Given the description of an element on the screen output the (x, y) to click on. 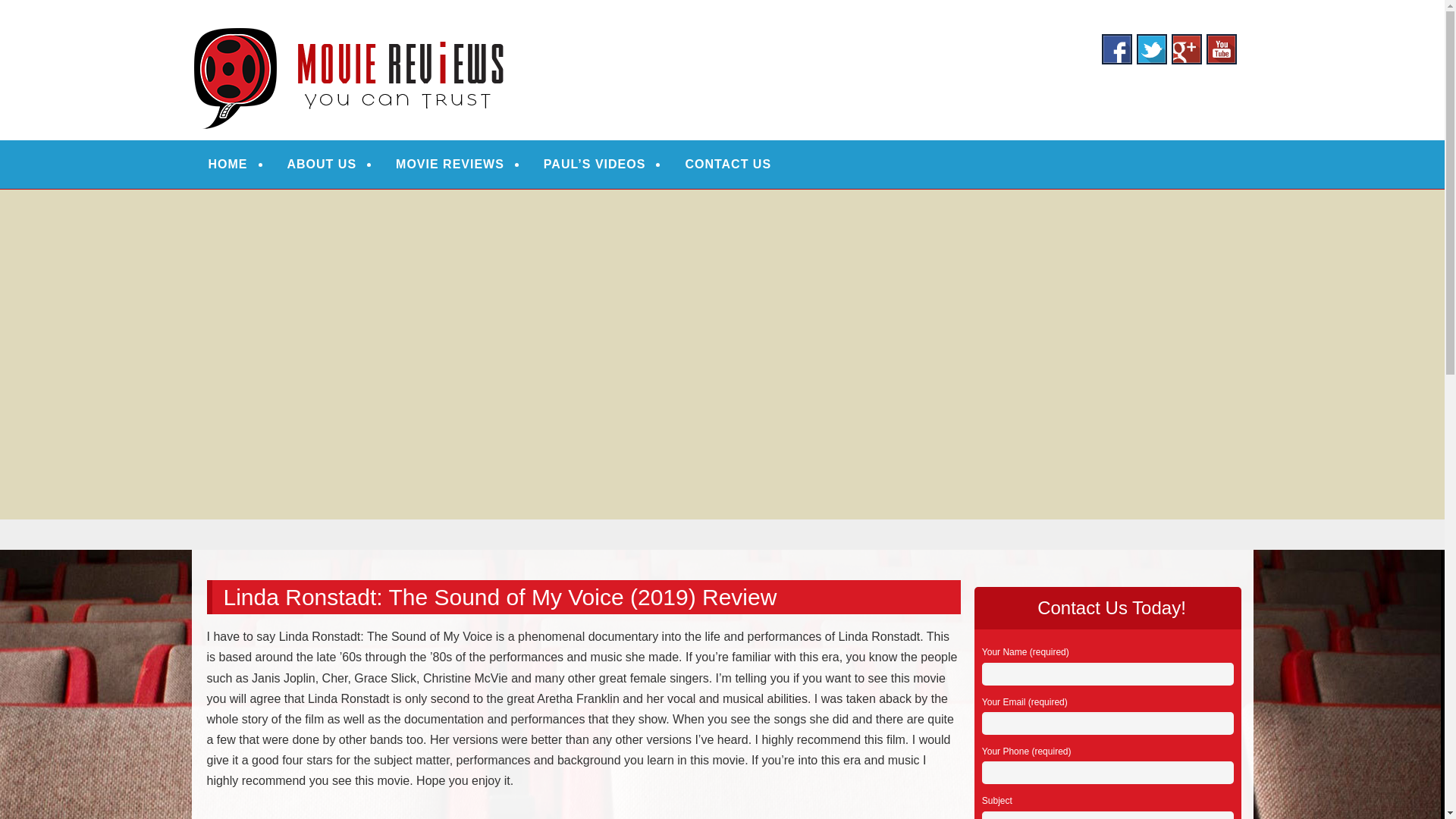
MOVIE REVIEWS (450, 164)
CONTACT US (727, 164)
ABOUT US (321, 164)
Movie Reviews You Can Trust (440, 32)
MOVIE REVIEWS YOU CAN TRUST (440, 32)
HOME (227, 164)
